Given the description of an element on the screen output the (x, y) to click on. 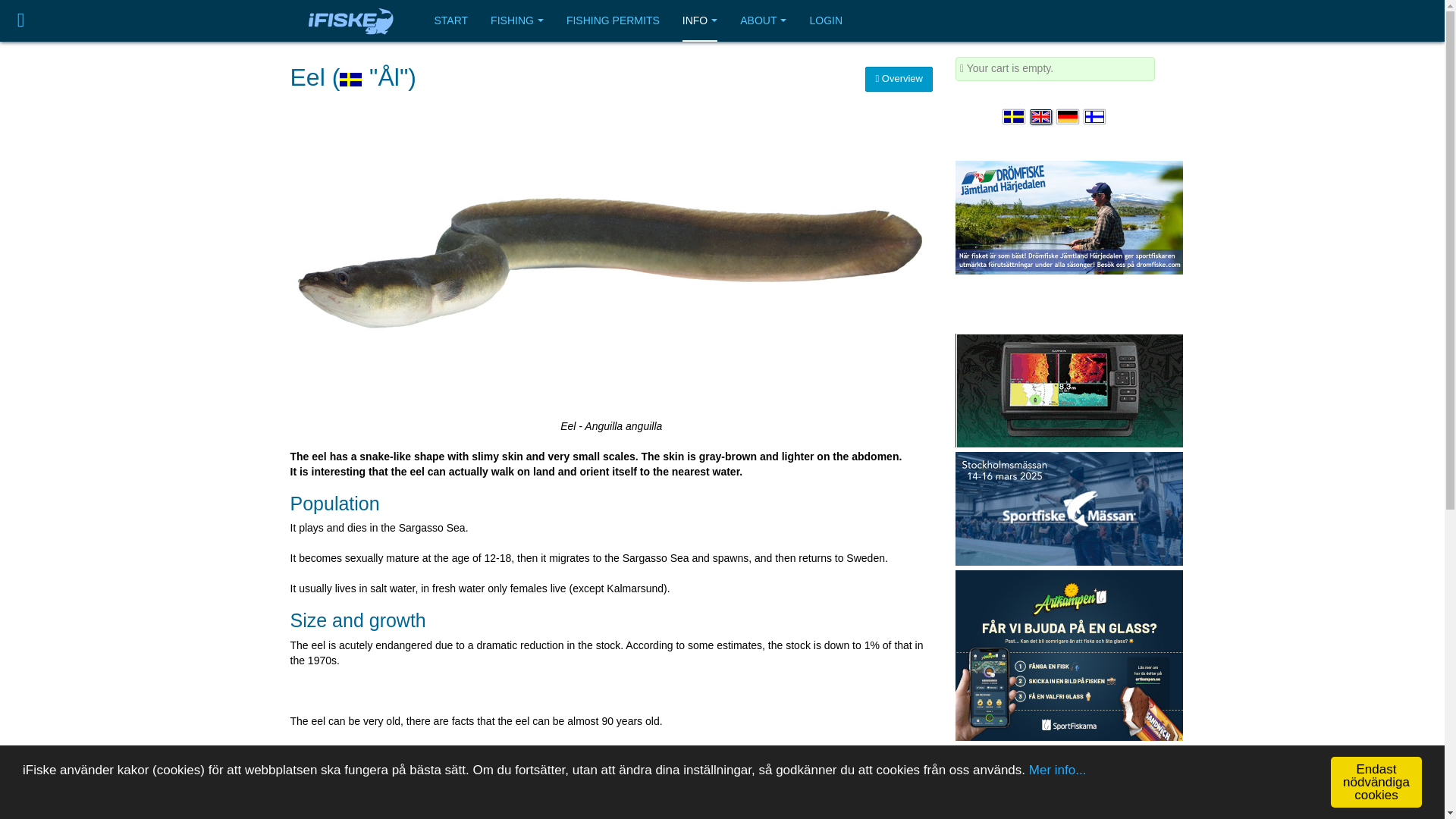
Artkampen (1068, 654)
iFiske.se (349, 20)
Kayak Store (1068, 389)
